Given the description of an element on the screen output the (x, y) to click on. 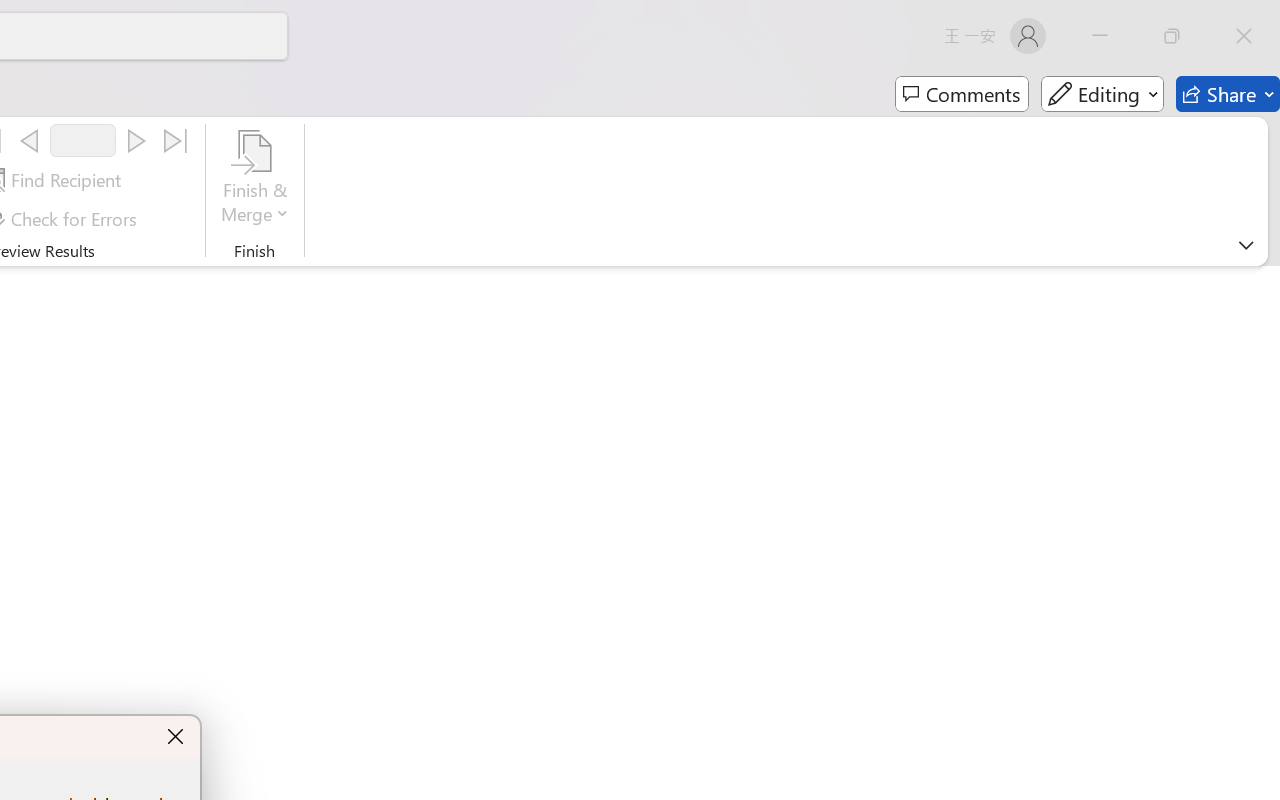
Editing (1101, 94)
Ribbon Display Options (1246, 245)
Comments (961, 94)
Minimize (1099, 36)
Close (1244, 36)
Record (83, 140)
Previous (29, 141)
Share (1228, 94)
Last (175, 141)
Next (136, 141)
Finish & Merge (255, 179)
Restore Down (1172, 36)
